Given the description of an element on the screen output the (x, y) to click on. 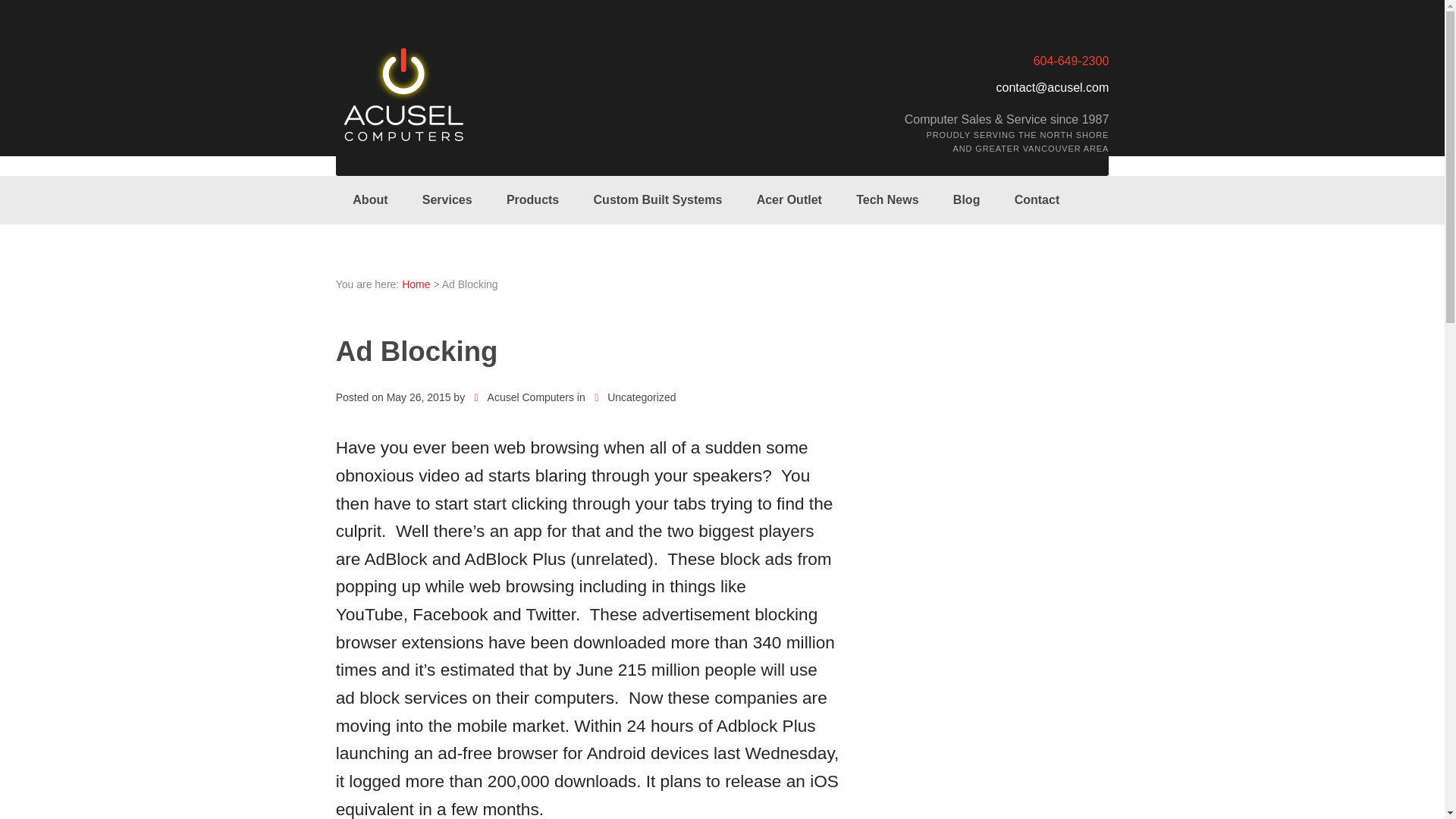
Products (532, 200)
Blog (966, 200)
Posts by Acusel Computers (523, 397)
Tech News (888, 200)
Acusel Computers (415, 284)
Custom Built Systems (657, 200)
Services (446, 200)
Acusel Computers (523, 397)
Uncategorized (634, 397)
604-649-2300 (1071, 60)
